Given the description of an element on the screen output the (x, y) to click on. 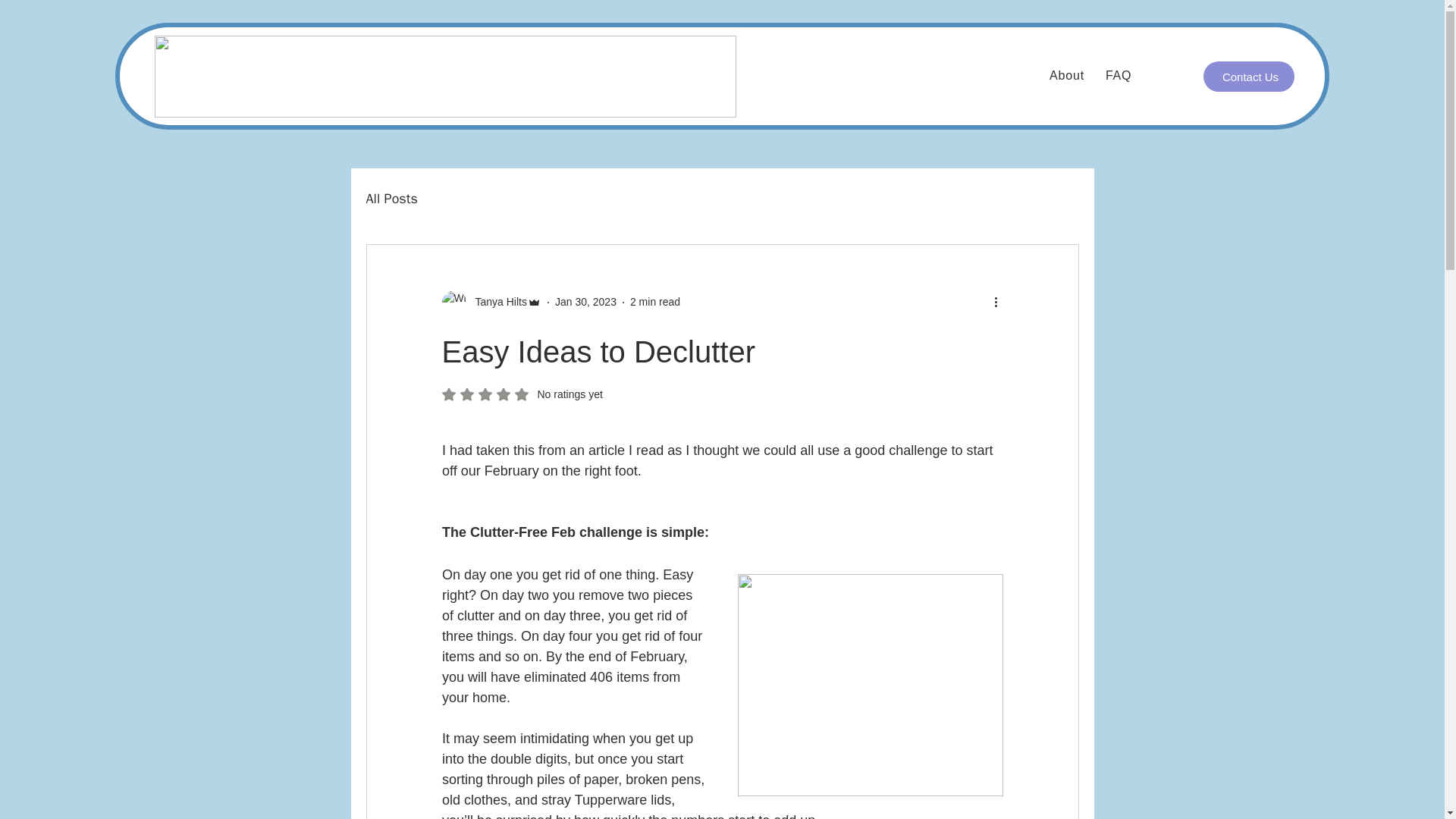
About (1067, 75)
Jan 30, 2023 (584, 301)
FAQ (1117, 75)
2 min read (654, 301)
All Posts (521, 394)
Contact Us (390, 198)
Tanya Hilts (1249, 76)
